Given the description of an element on the screen output the (x, y) to click on. 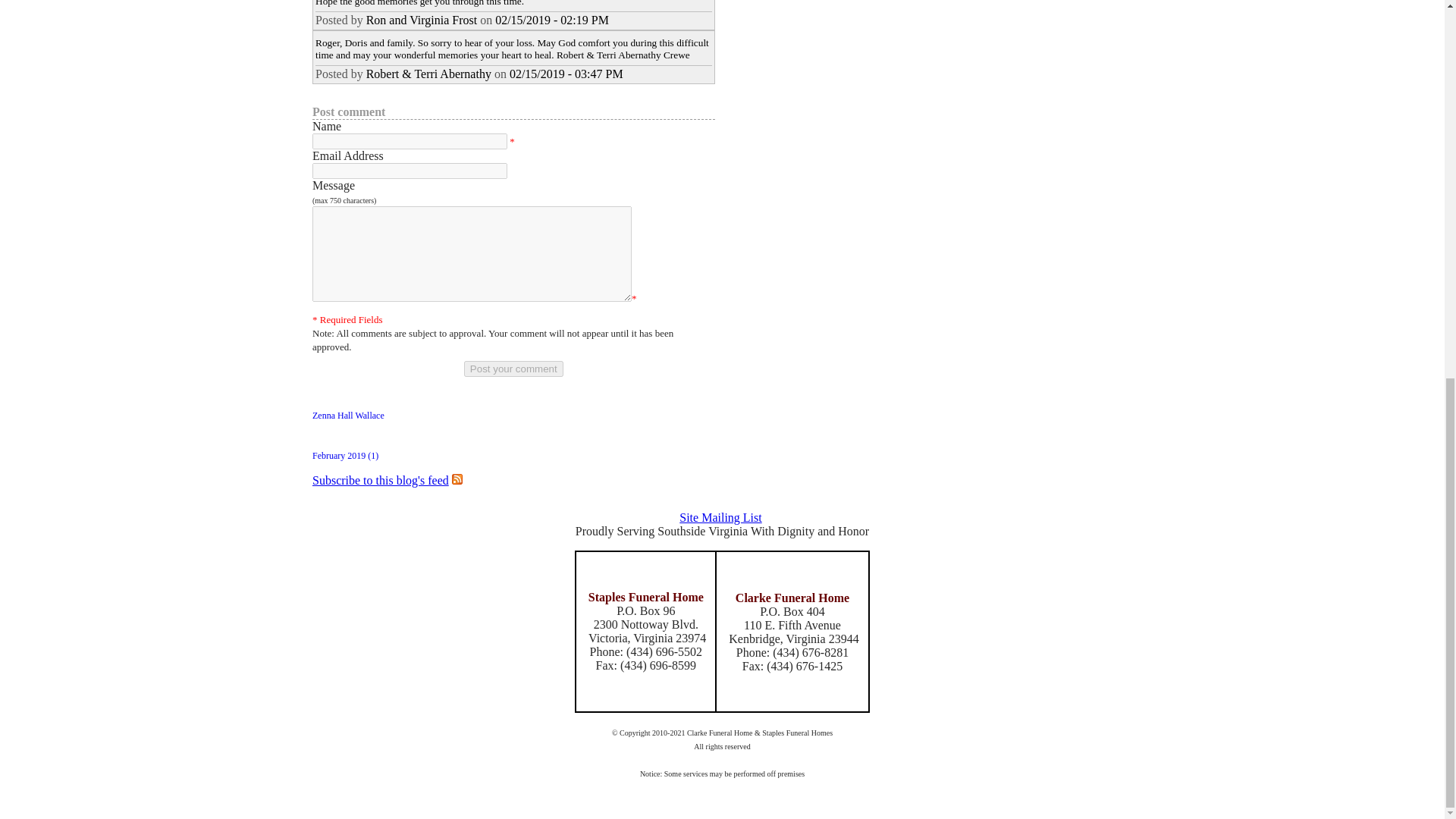
Site Mailing List (720, 517)
Subscribe to this blog's feed (380, 480)
Zenna Hall Wallace (348, 415)
Post your comment (513, 368)
